Given the description of an element on the screen output the (x, y) to click on. 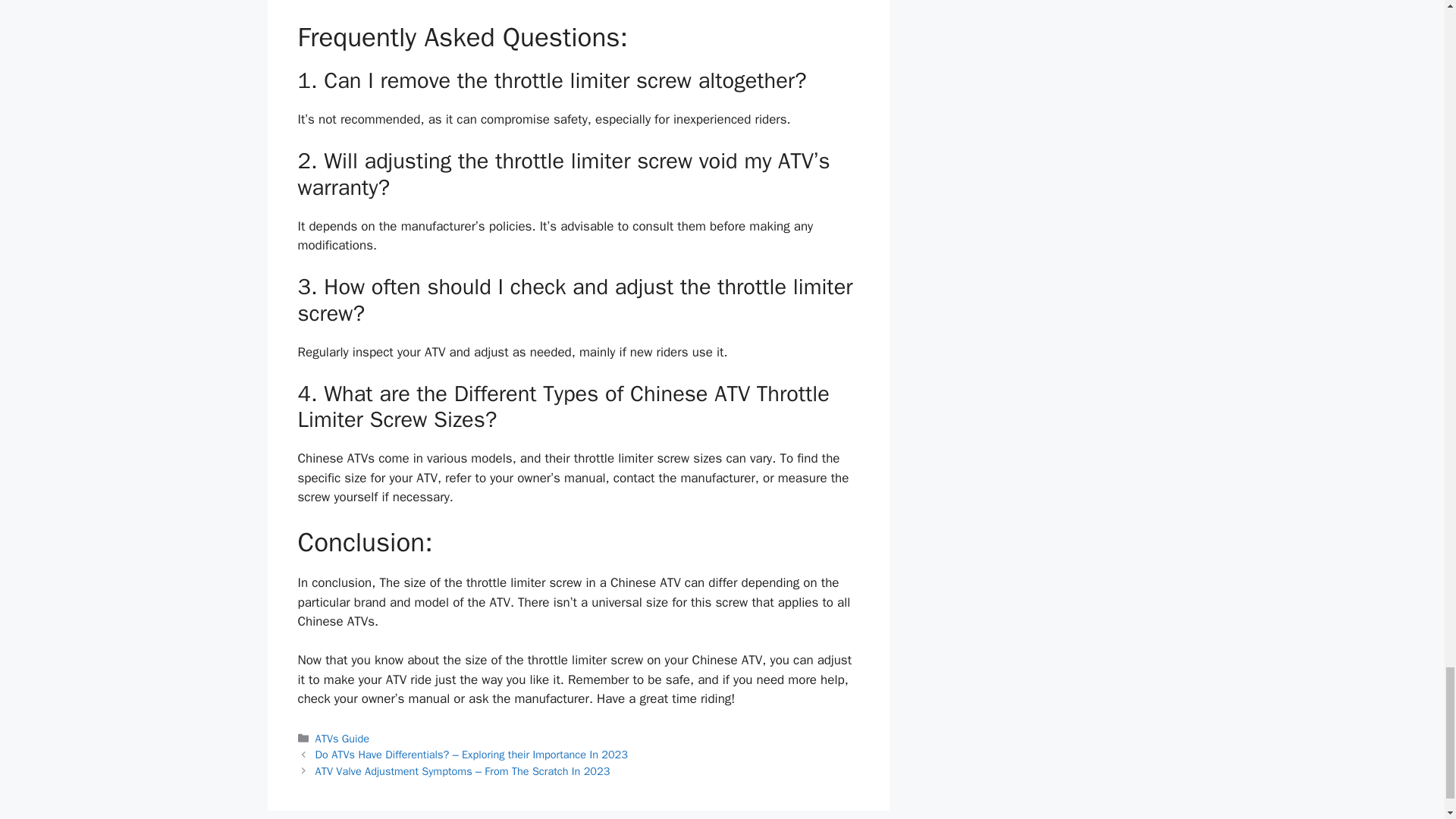
ATVs Guide (342, 738)
Speed Limiter Adjustment (578, 10)
